Given the description of an element on the screen output the (x, y) to click on. 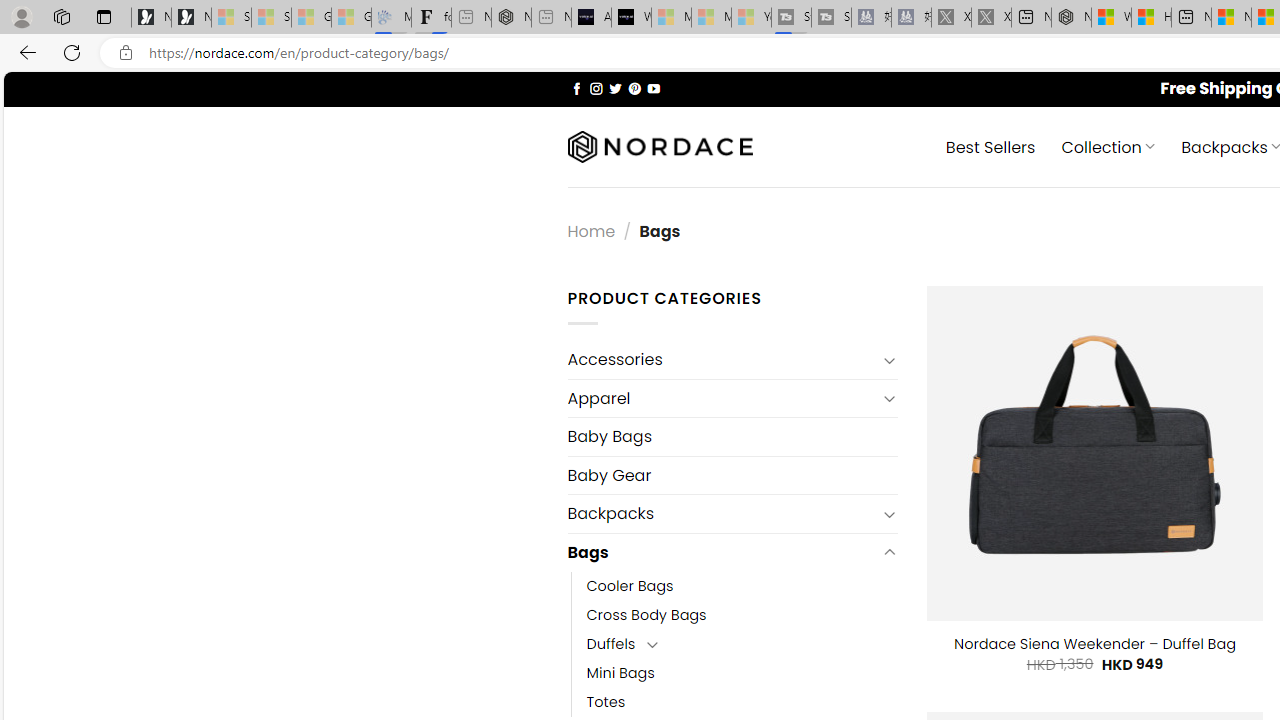
Duffels (611, 643)
Nordace (659, 147)
Totes (742, 701)
Wildlife - MSN (1111, 17)
What's the best AI voice generator? - voice.ai (631, 17)
Baby Bags (732, 436)
Home (591, 230)
